Given the description of an element on the screen output the (x, y) to click on. 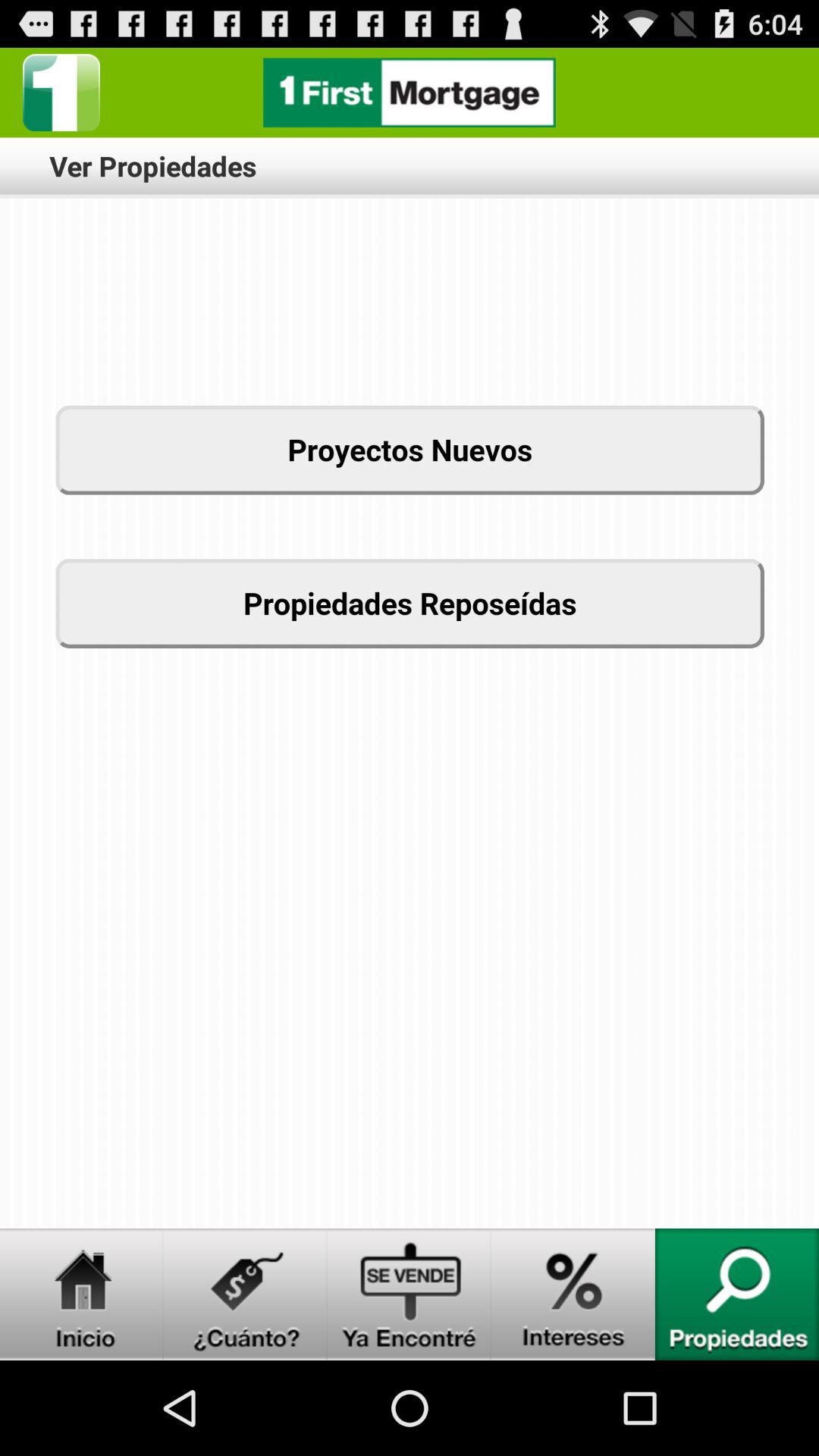
switch to inereses (573, 1294)
